Given the description of an element on the screen output the (x, y) to click on. 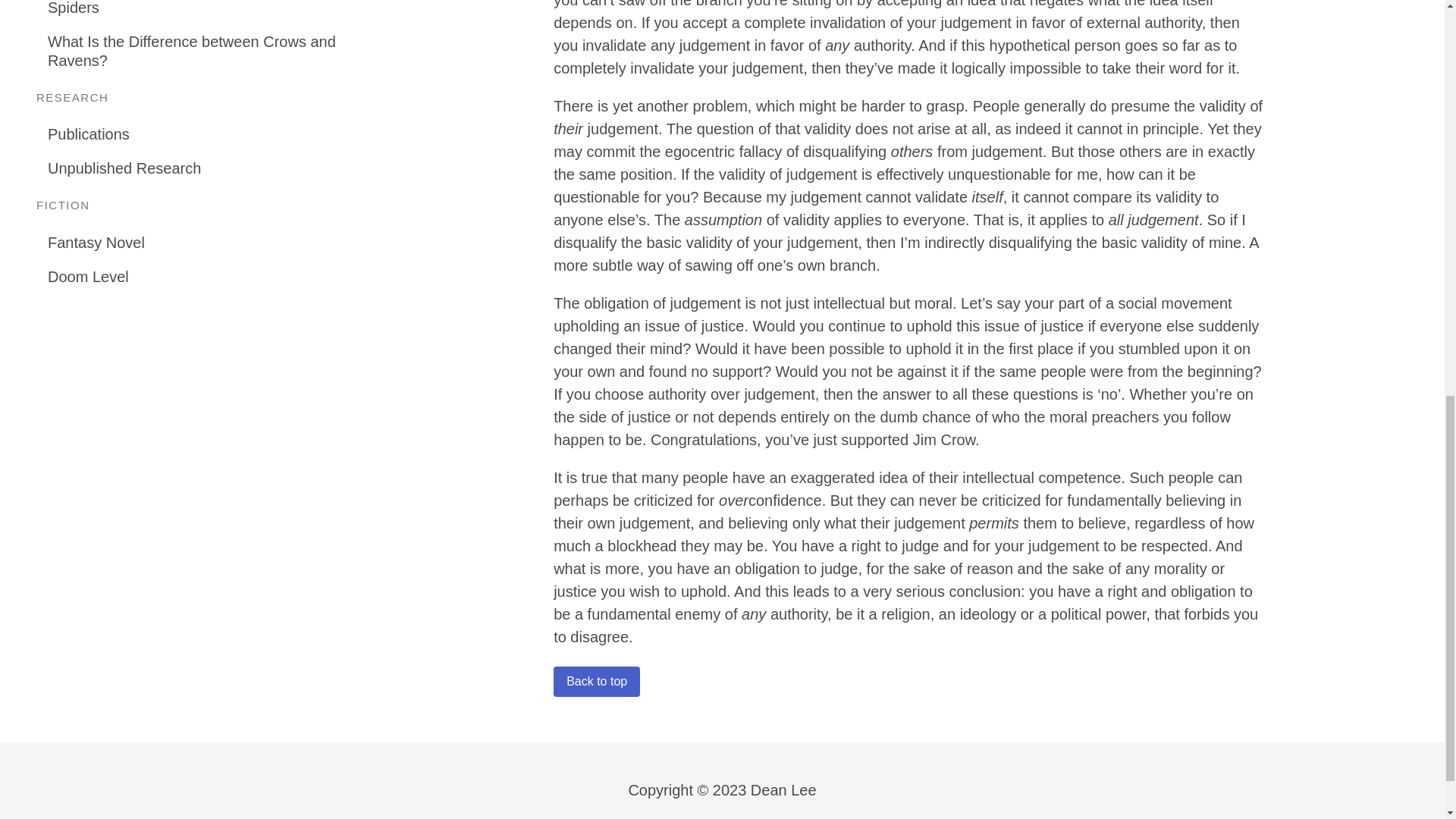
Back to top (596, 681)
How to Pick Up and Handle Huntsman Spiders (194, 12)
Fantasy Novel (194, 243)
Publications (194, 134)
What Is the Difference between Crows and Ravens? (194, 50)
Doom Level (194, 276)
Unpublished Research (194, 168)
